Given the description of an element on the screen output the (x, y) to click on. 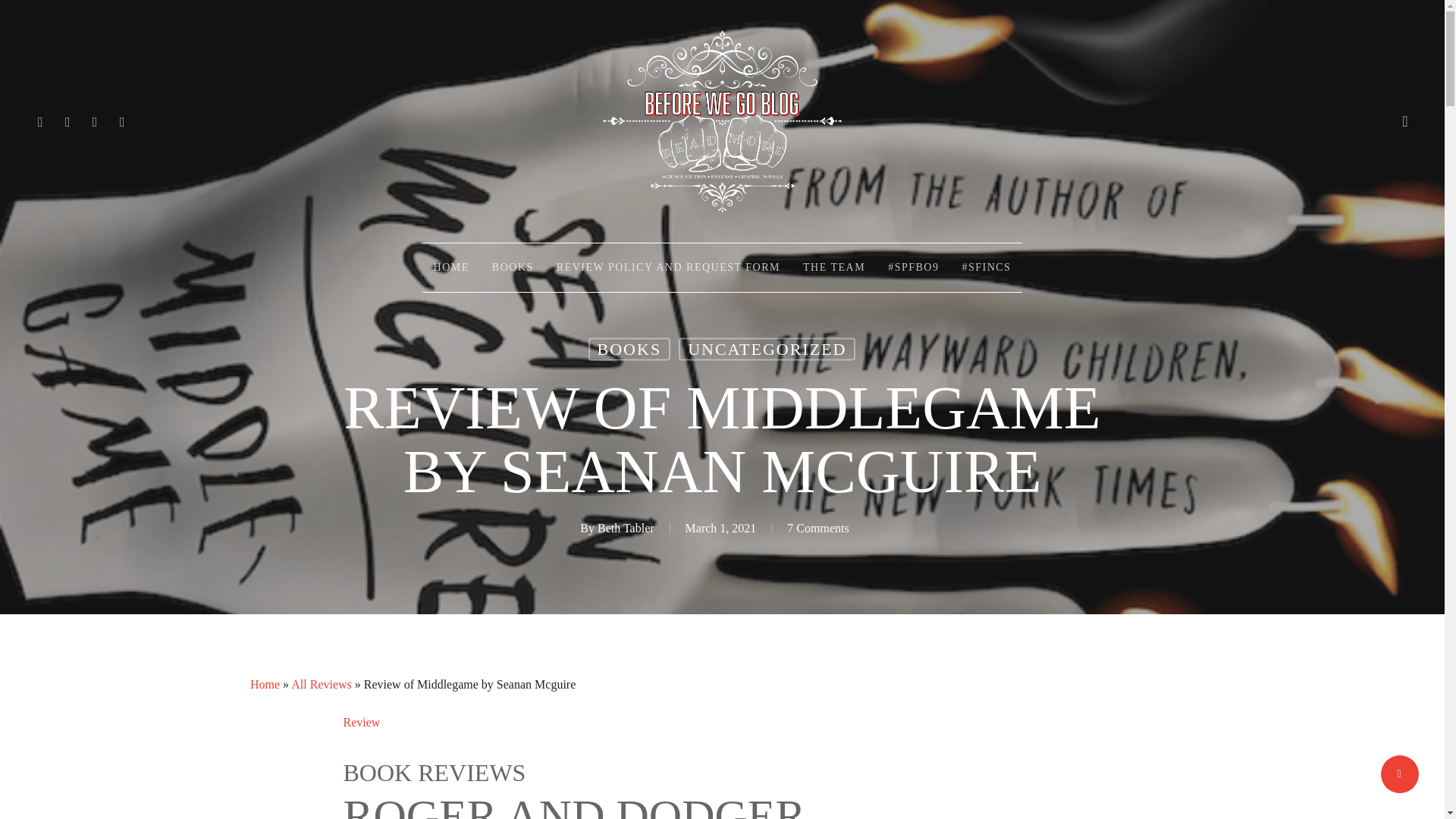
TWITTER (41, 121)
THE TEAM (834, 267)
All Reviews (321, 684)
PINTEREST (95, 121)
BOOKS (629, 349)
search (1404, 121)
FACEBOOK (68, 121)
Home (264, 684)
REVIEW POLICY AND REQUEST FORM (668, 267)
Review (361, 721)
INSTAGRAM (122, 121)
UNCATEGORIZED (767, 349)
HOME (451, 267)
7 Comments (817, 527)
Beth Tabler (624, 527)
